Given the description of an element on the screen output the (x, y) to click on. 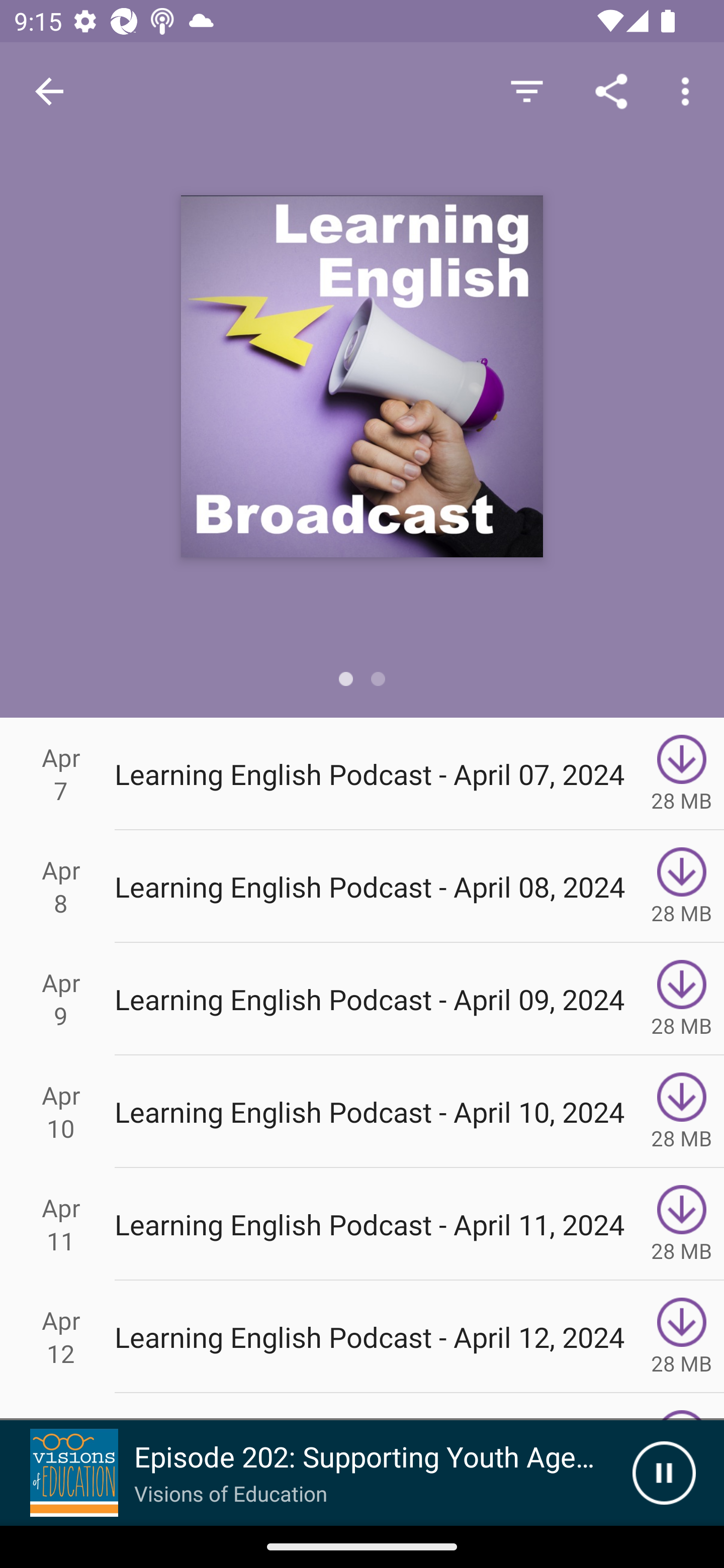
Navigate up (49, 91)
Hide Episodes (526, 90)
Share Link (611, 90)
More options (688, 90)
Download 28 MB (681, 773)
Download 28 MB (681, 885)
Download 28 MB (681, 998)
Download 28 MB (681, 1111)
Download 28 MB (681, 1224)
Download 28 MB (681, 1336)
Pause (663, 1472)
